Given the description of an element on the screen output the (x, y) to click on. 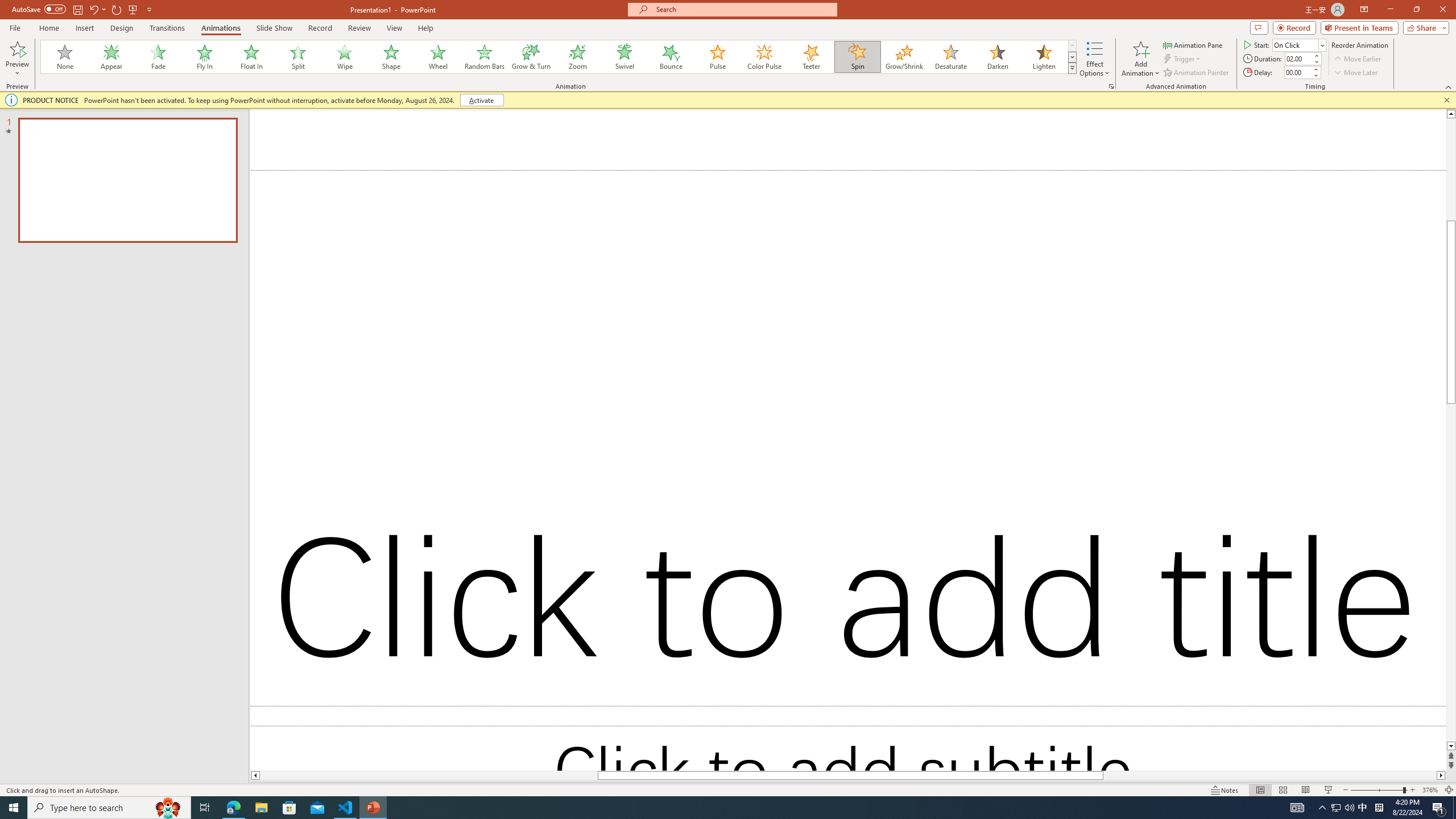
Start (1299, 44)
More Options... (1110, 85)
Animation Duration (1298, 58)
AutomationID: AnimationGallery (558, 56)
Wheel (437, 56)
Spin (857, 56)
Split (298, 56)
Animation Painter (1196, 72)
